Given the description of an element on the screen output the (x, y) to click on. 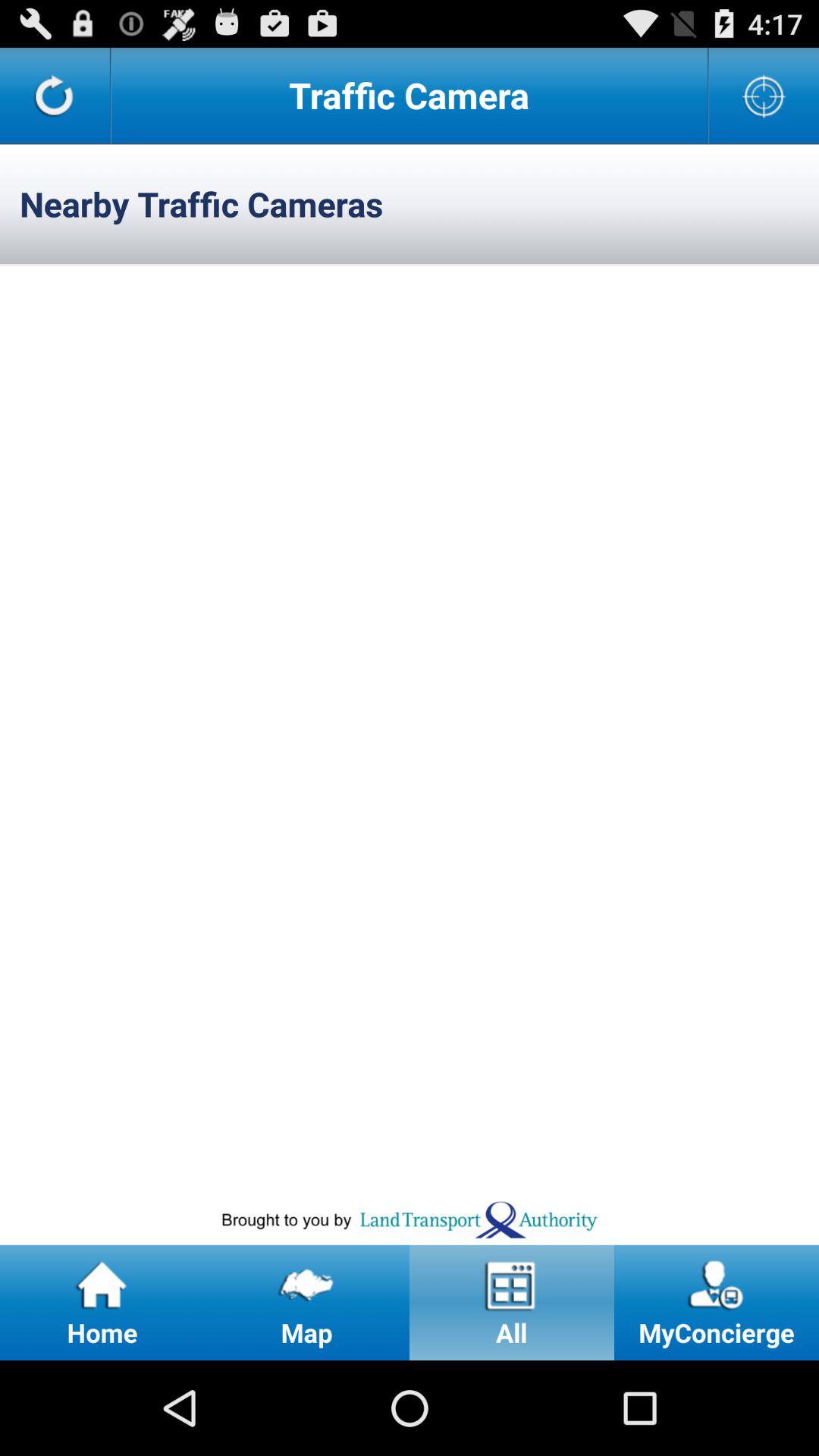
refresh (54, 95)
